Given the description of an element on the screen output the (x, y) to click on. 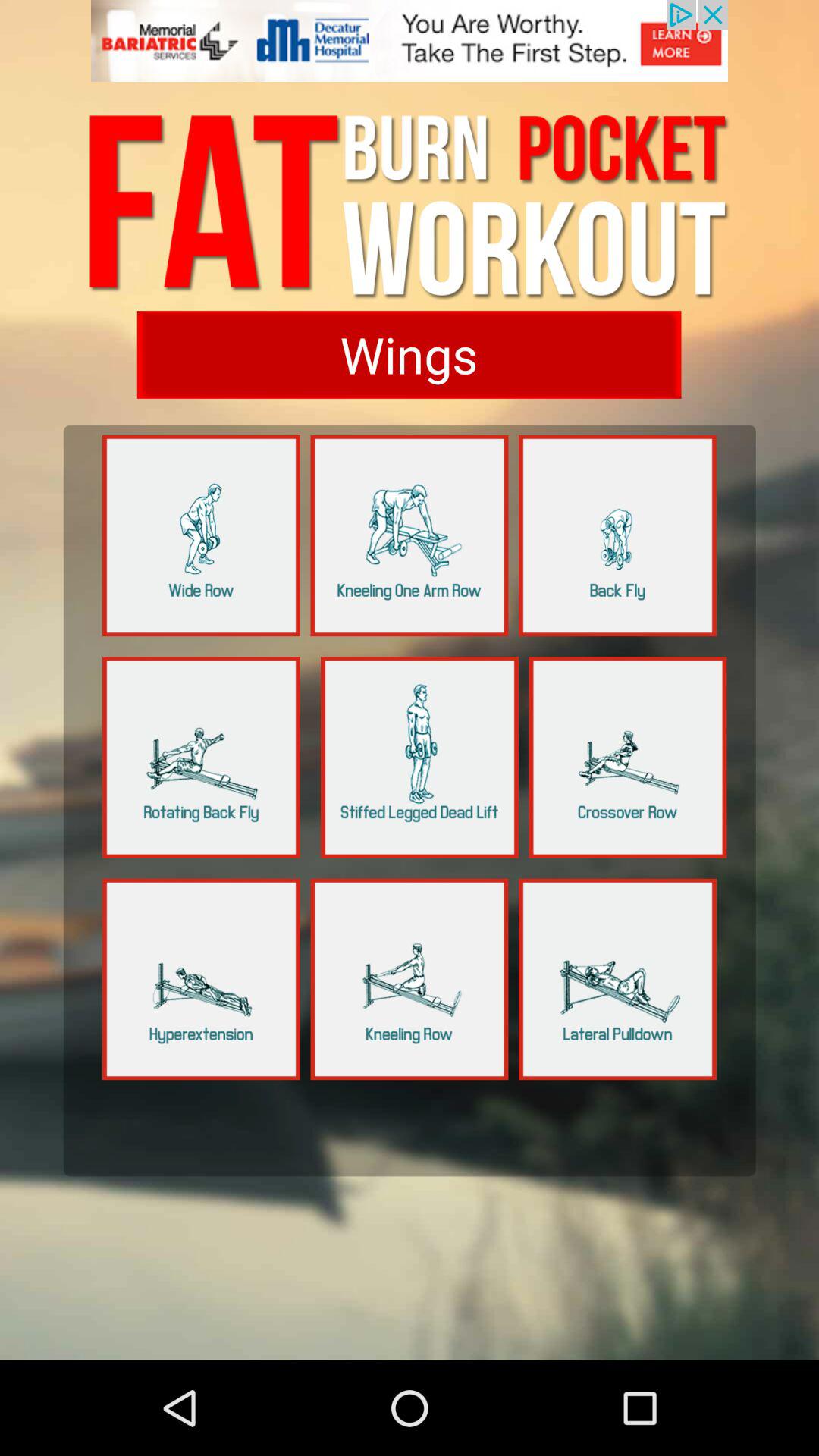
content picture (419, 757)
